Given the description of an element on the screen output the (x, y) to click on. 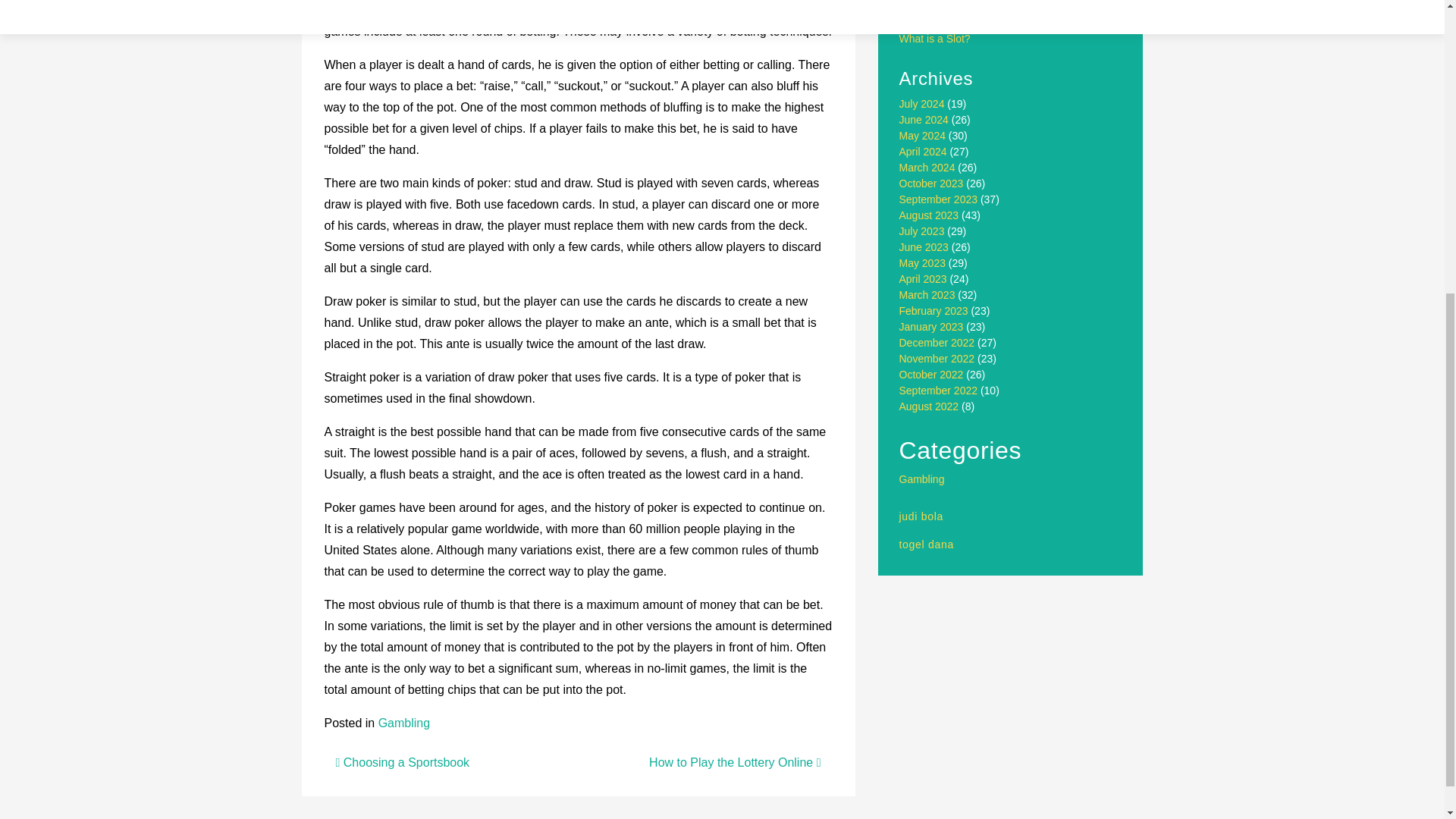
How to Become a Better Poker Player (988, 6)
October 2023 (931, 183)
togel dana (926, 544)
April 2024 (923, 151)
December 2022 (937, 342)
May 2024 (921, 135)
August 2022 (929, 406)
judi bola (921, 516)
February 2023 (933, 310)
What is a Slot? (935, 38)
April 2023 (923, 278)
July 2024 (921, 103)
September 2023 (938, 199)
January 2023 (931, 326)
November 2022 (937, 358)
